Given the description of an element on the screen output the (x, y) to click on. 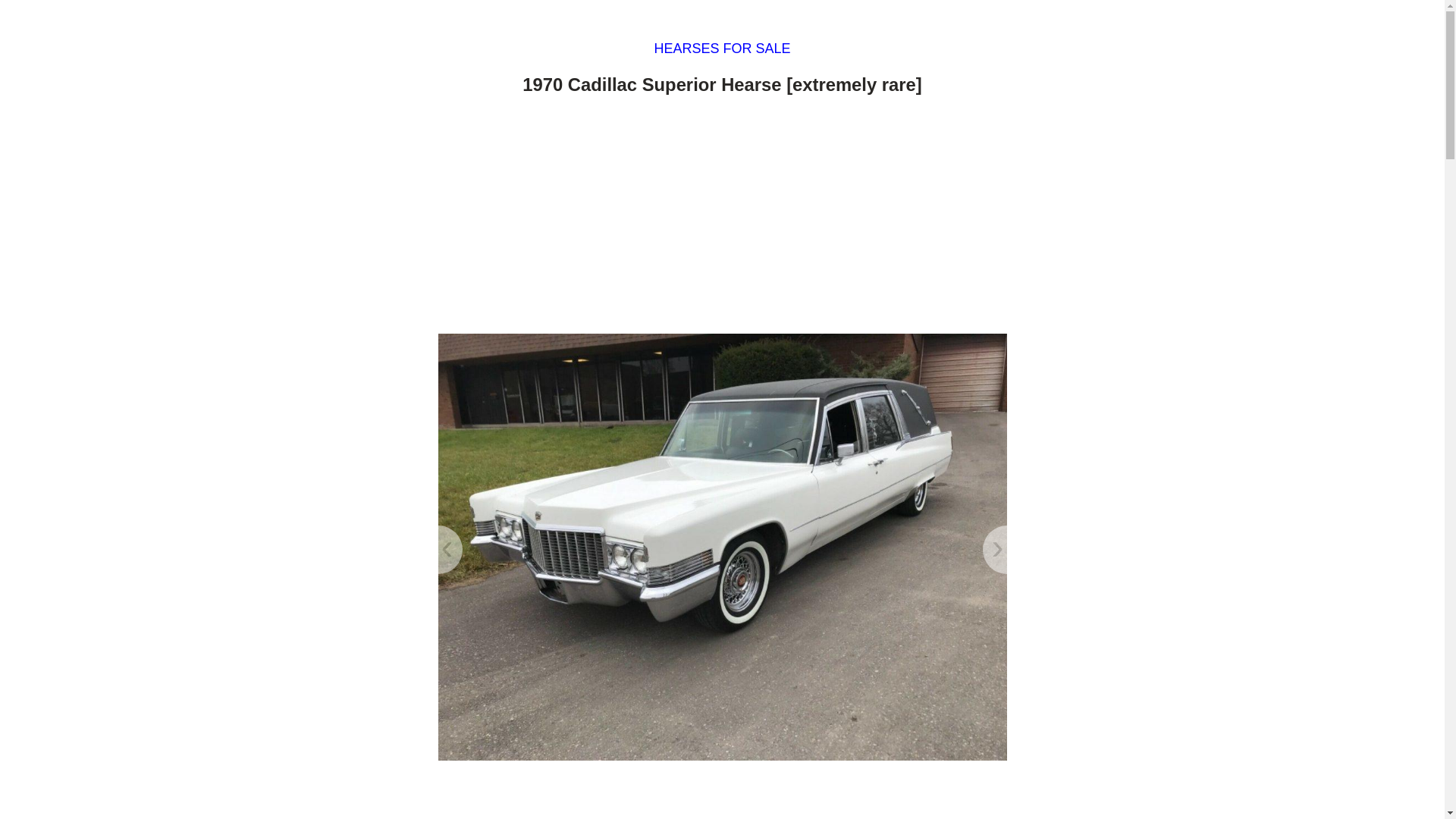
Advertisement (722, 796)
Advertisement (722, 218)
HEARSES FOR SALE (721, 48)
